Given the description of an element on the screen output the (x, y) to click on. 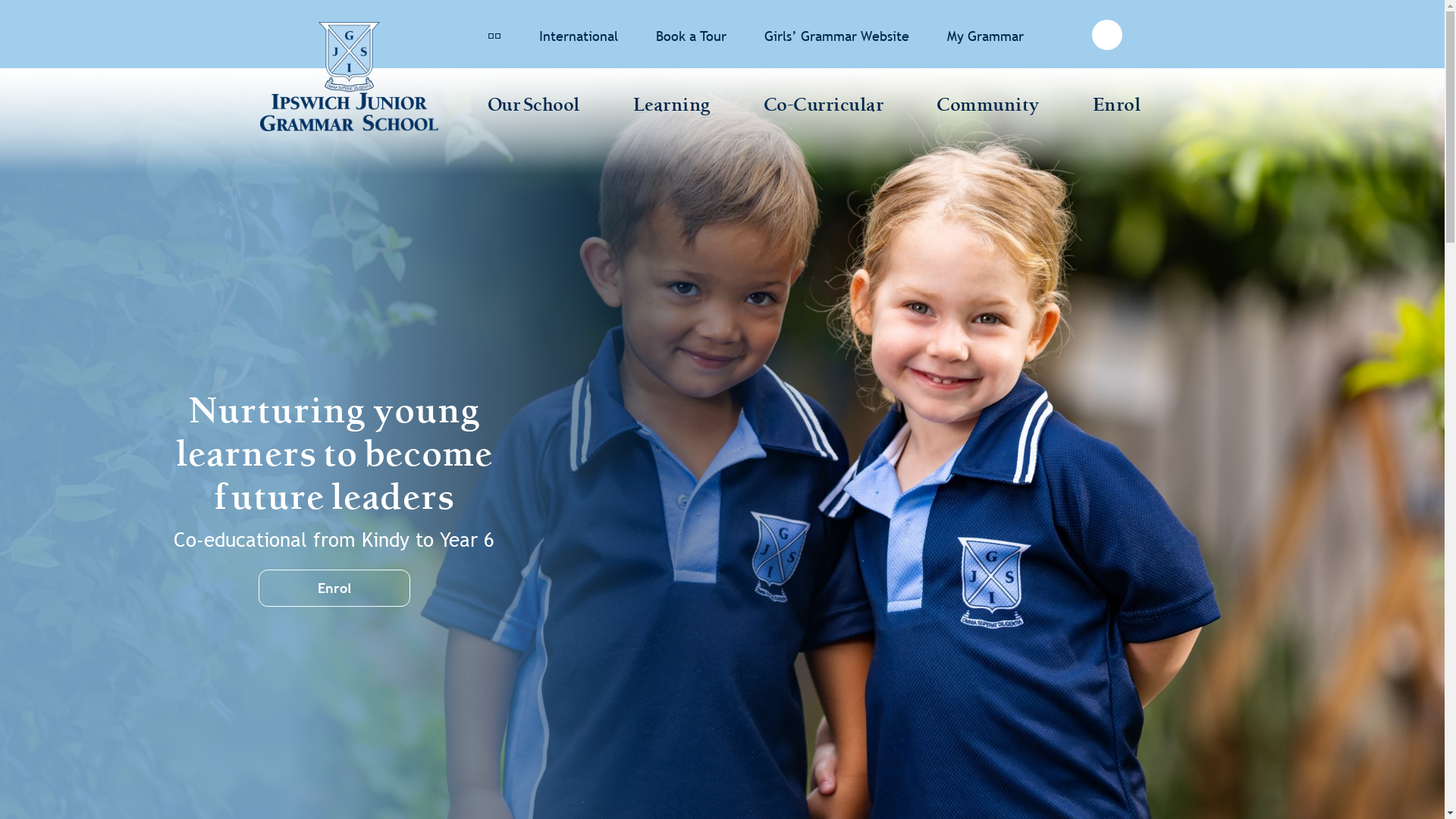
Community Element type: text (987, 106)
International Element type: text (577, 35)
My Grammar Element type: text (984, 35)
Enrol Element type: text (333, 587)
Our School Element type: text (532, 106)
Enrol Element type: text (1116, 106)
Co-Curricular Element type: text (822, 106)
Book a Tour Element type: text (690, 35)
Learning Element type: text (670, 106)
